Given the description of an element on the screen output the (x, y) to click on. 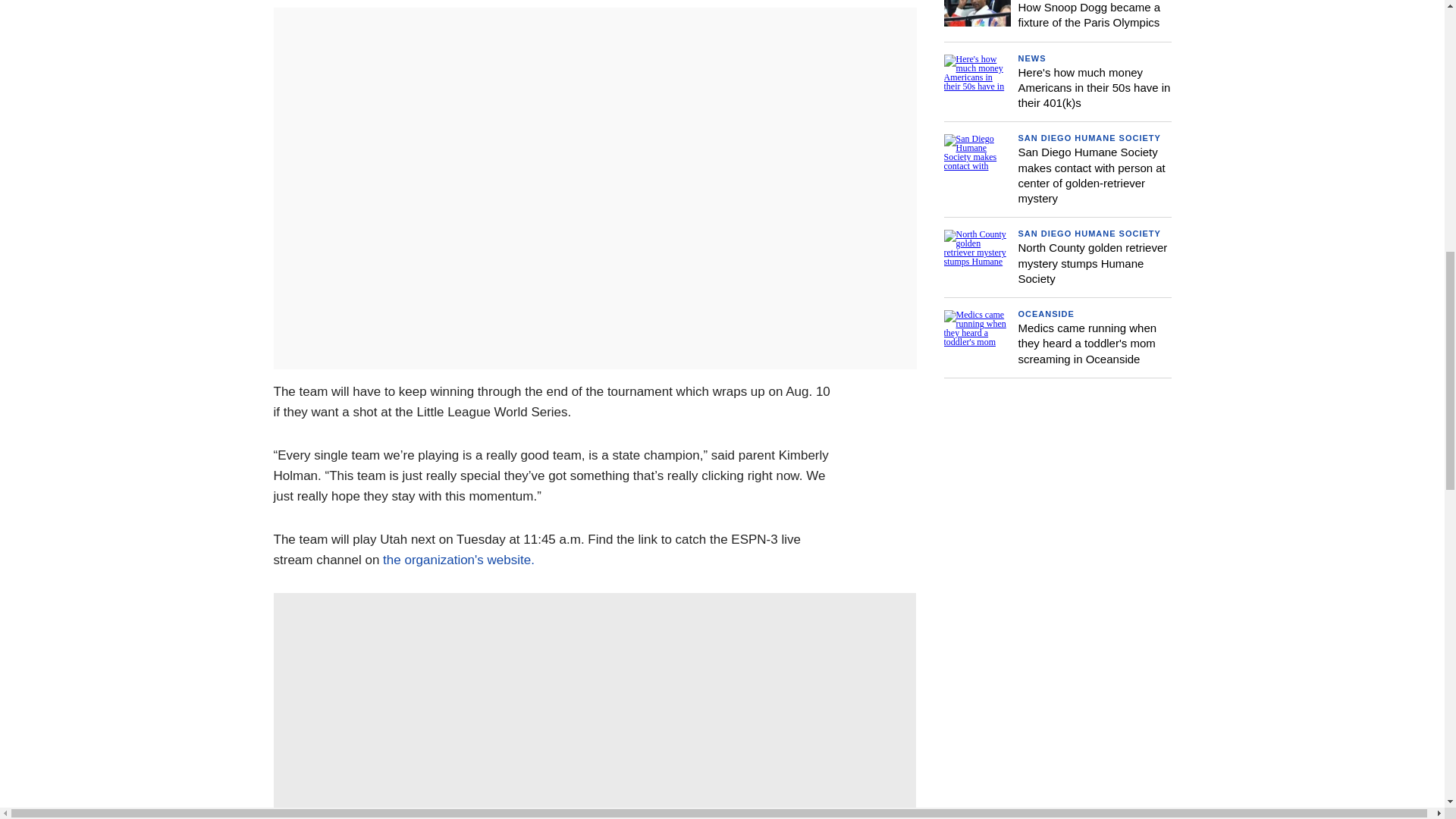
How Snoop Dogg became a fixture of the Paris Olympics (1088, 14)
the organization's website. (458, 559)
SAN DIEGO HUMANE SOCIETY (1088, 137)
NEWS (1031, 58)
